Given the description of an element on the screen output the (x, y) to click on. 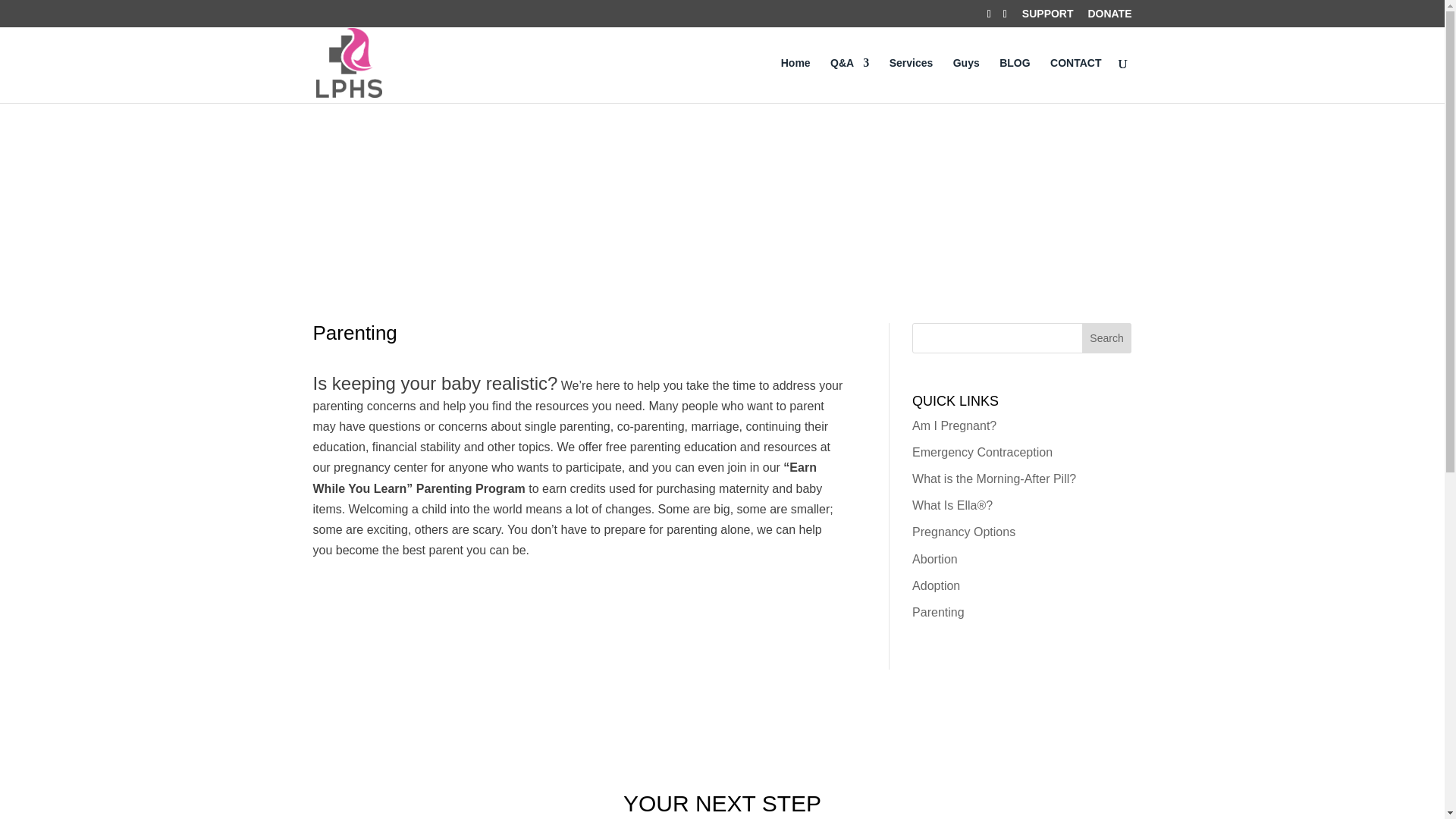
What is the Morning-After Pill? (993, 478)
CONTACT (1074, 80)
Search (1106, 337)
Abortion (935, 558)
Parenting (937, 612)
Emergency Contraception (982, 451)
DONATE (1109, 16)
Am I Pregnant? (953, 425)
Pregnancy Options (963, 531)
Search (1106, 337)
